Given the description of an element on the screen output the (x, y) to click on. 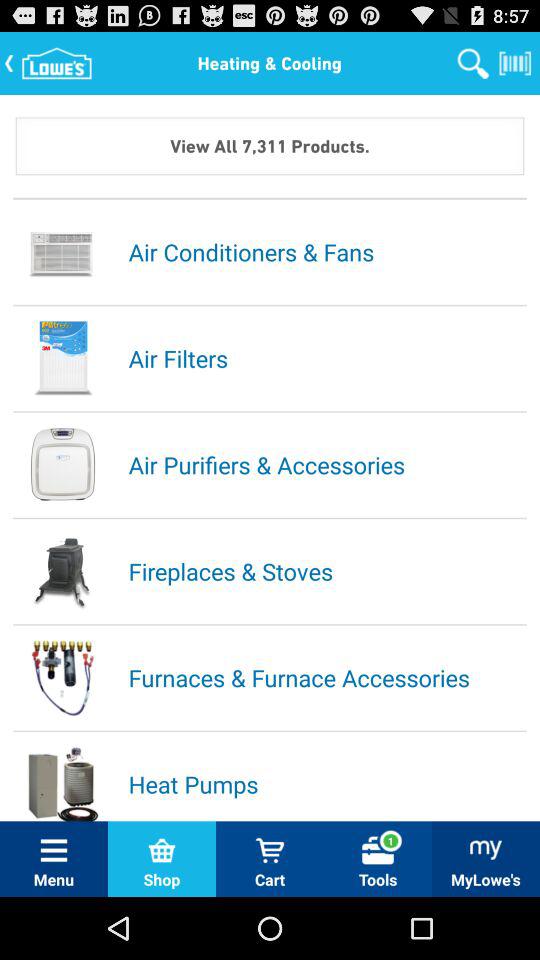
flip until the air purifiers & accessories item (326, 464)
